Given the description of an element on the screen output the (x, y) to click on. 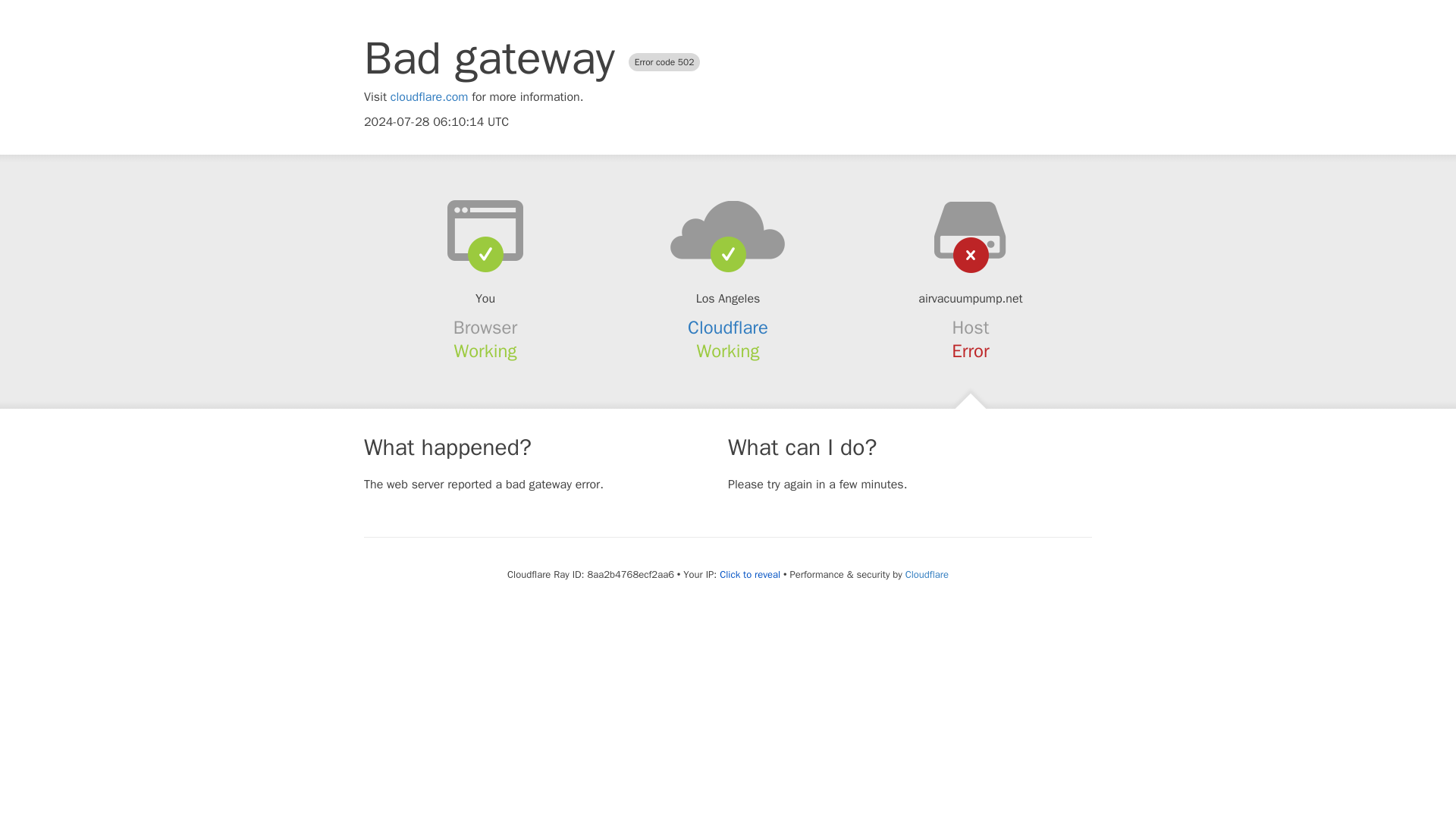
cloudflare.com (429, 96)
Cloudflare (727, 327)
Cloudflare (927, 574)
Click to reveal (749, 574)
